Given the description of an element on the screen output the (x, y) to click on. 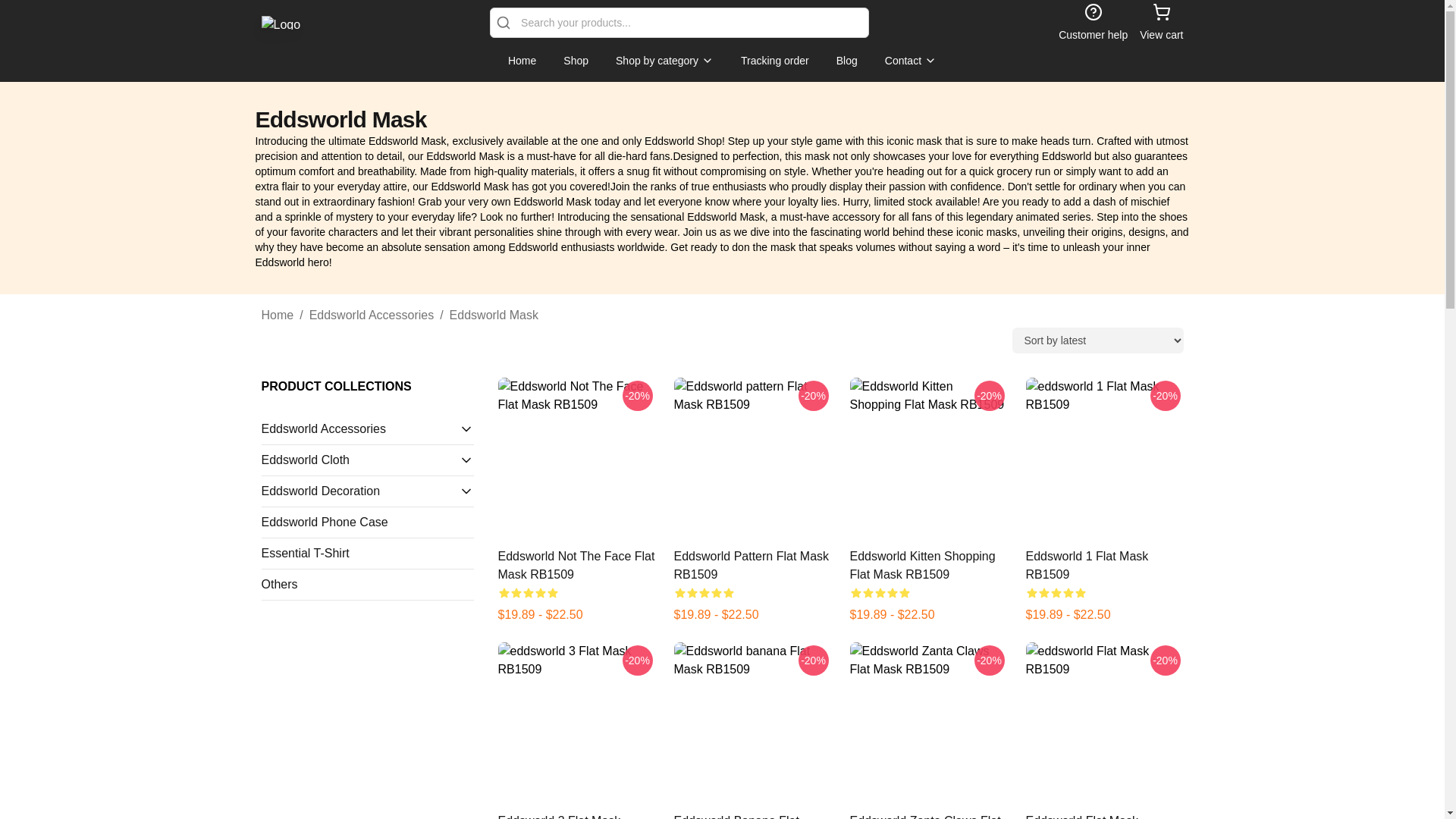
customer help (1092, 22)
Contact (910, 60)
view cart (1161, 22)
Customer help (1092, 22)
View cart (1161, 22)
Shop (575, 60)
Home (522, 60)
Eddsworld Accessories (359, 429)
Blog (846, 60)
Tracking order (775, 60)
